Given the description of an element on the screen output the (x, y) to click on. 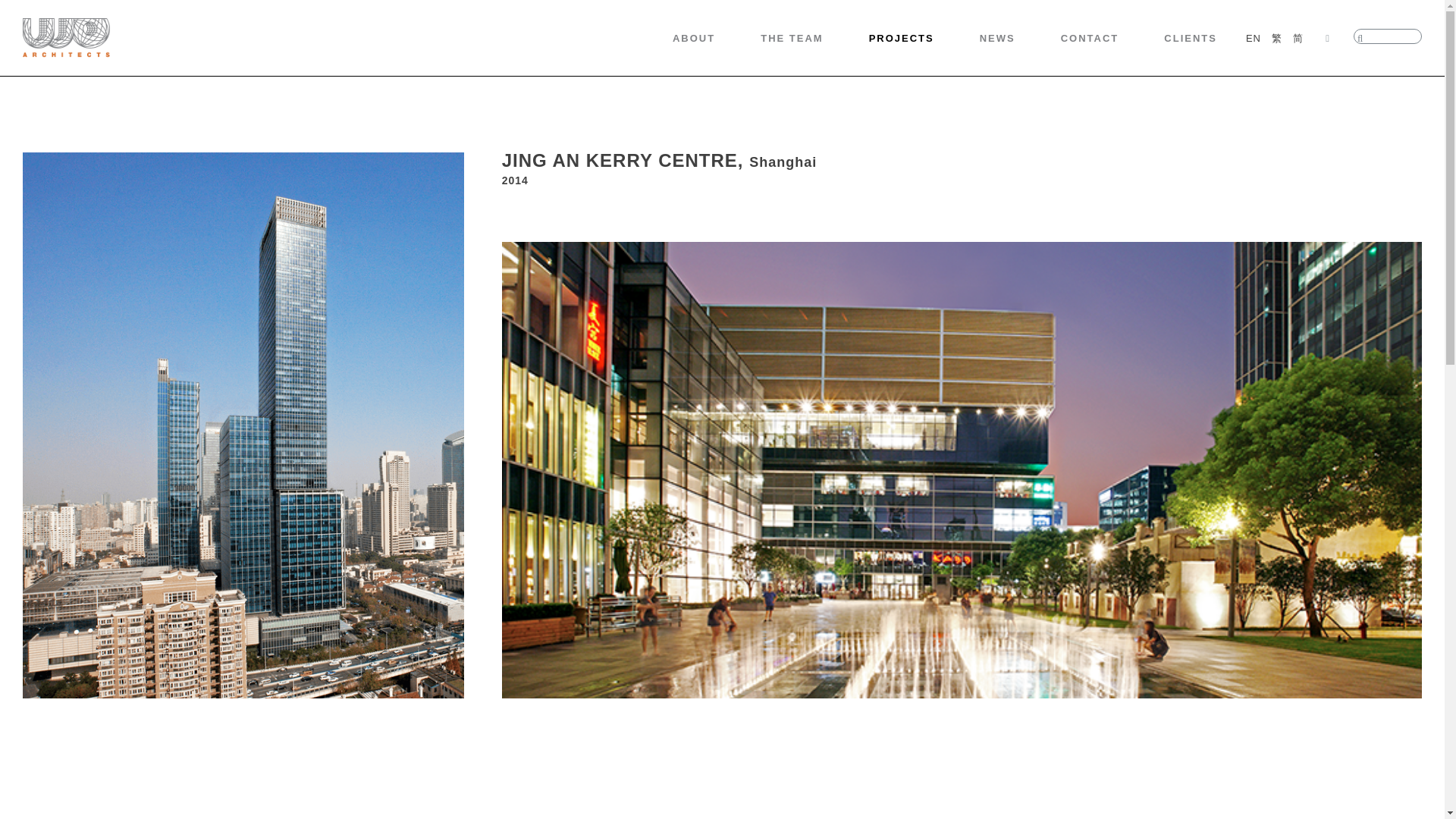
CLIENTS (1190, 38)
PROJECTS (901, 38)
Instagram (1327, 37)
NEWS (996, 38)
ABOUT (693, 38)
CONTACT (1090, 38)
EN (1253, 37)
THE TEAM (791, 38)
Instagram (1327, 37)
Go! (24, 15)
